Given the description of an element on the screen output the (x, y) to click on. 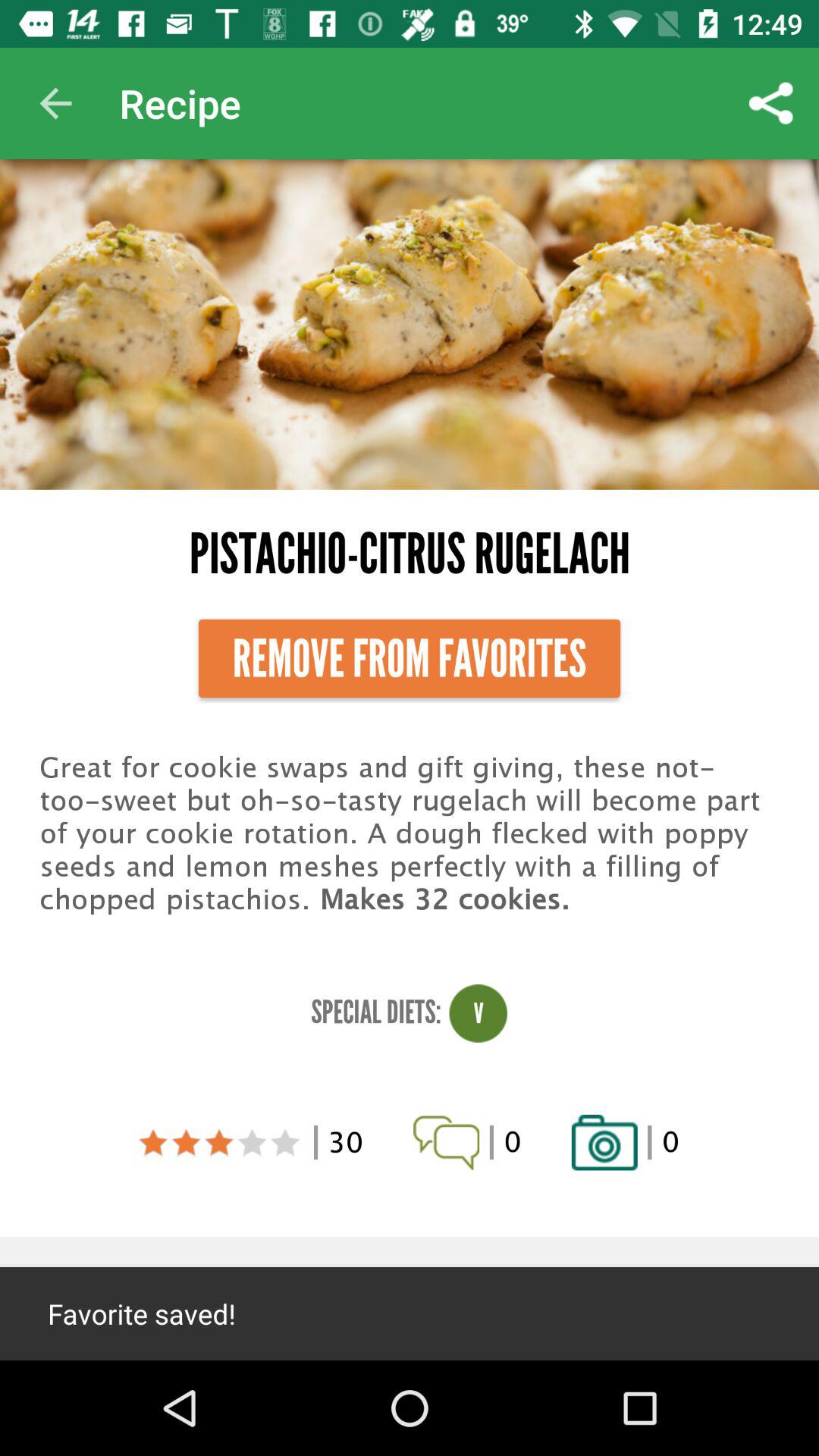
jump to remove from favorites (409, 658)
